Given the description of an element on the screen output the (x, y) to click on. 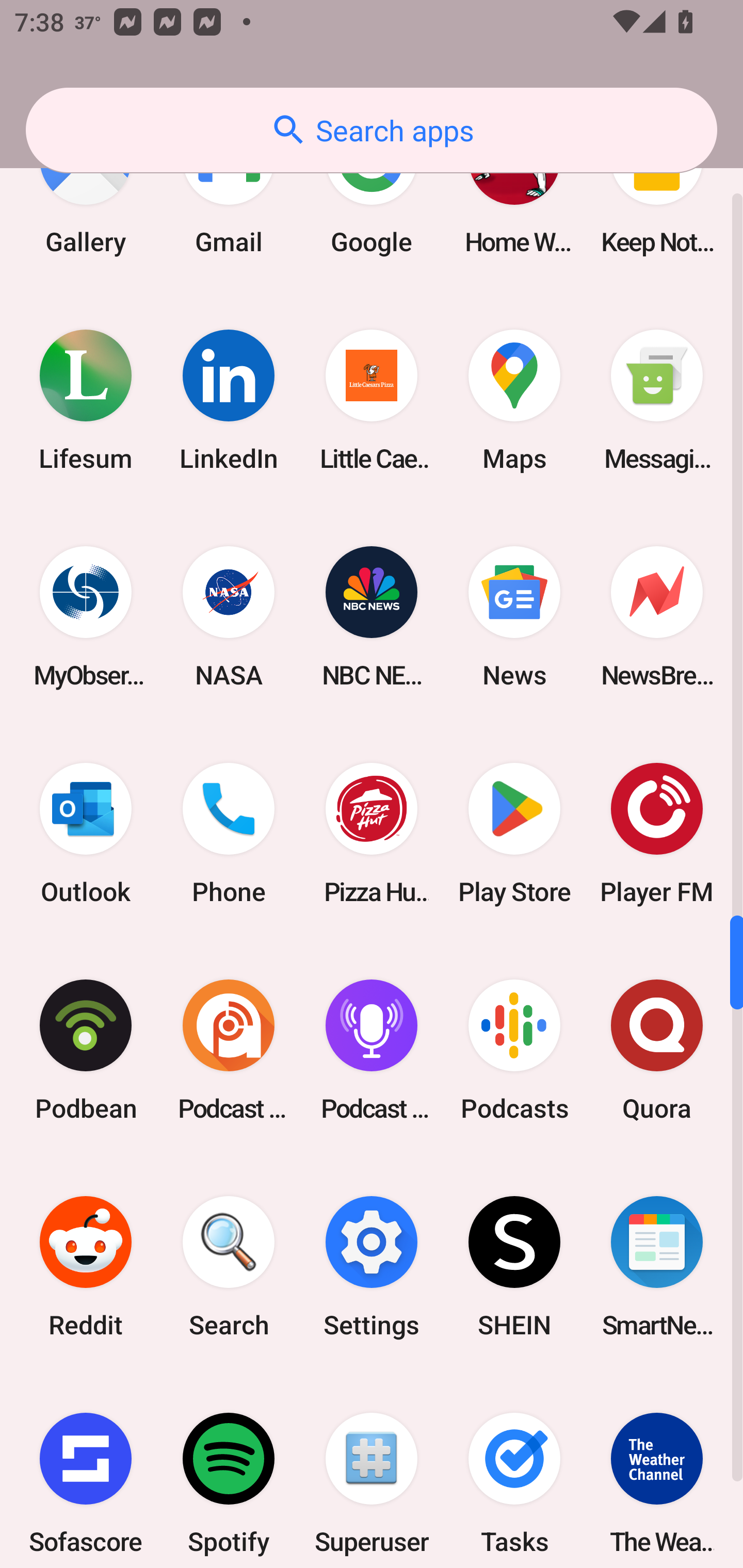
  Search apps (371, 130)
Lifesum (85, 399)
LinkedIn (228, 399)
Little Caesars Pizza (371, 399)
Maps (514, 399)
Messaging (656, 399)
MyObservatory (85, 616)
NASA (228, 616)
NBC NEWS (371, 616)
News (514, 616)
NewsBreak (656, 616)
Outlook (85, 833)
Phone (228, 833)
Pizza Hut HK & Macau (371, 833)
Play Store (514, 833)
Player FM (656, 833)
Podbean (85, 1050)
Podcast Addict (228, 1050)
Podcast Player (371, 1050)
Podcasts (514, 1050)
Quora (656, 1050)
Reddit (85, 1266)
Search (228, 1266)
Settings (371, 1266)
SHEIN (514, 1266)
SmartNews (656, 1266)
Sofascore (85, 1471)
Spotify (228, 1471)
Superuser (371, 1471)
Tasks (514, 1471)
The Weather Channel (656, 1471)
